Given the description of an element on the screen output the (x, y) to click on. 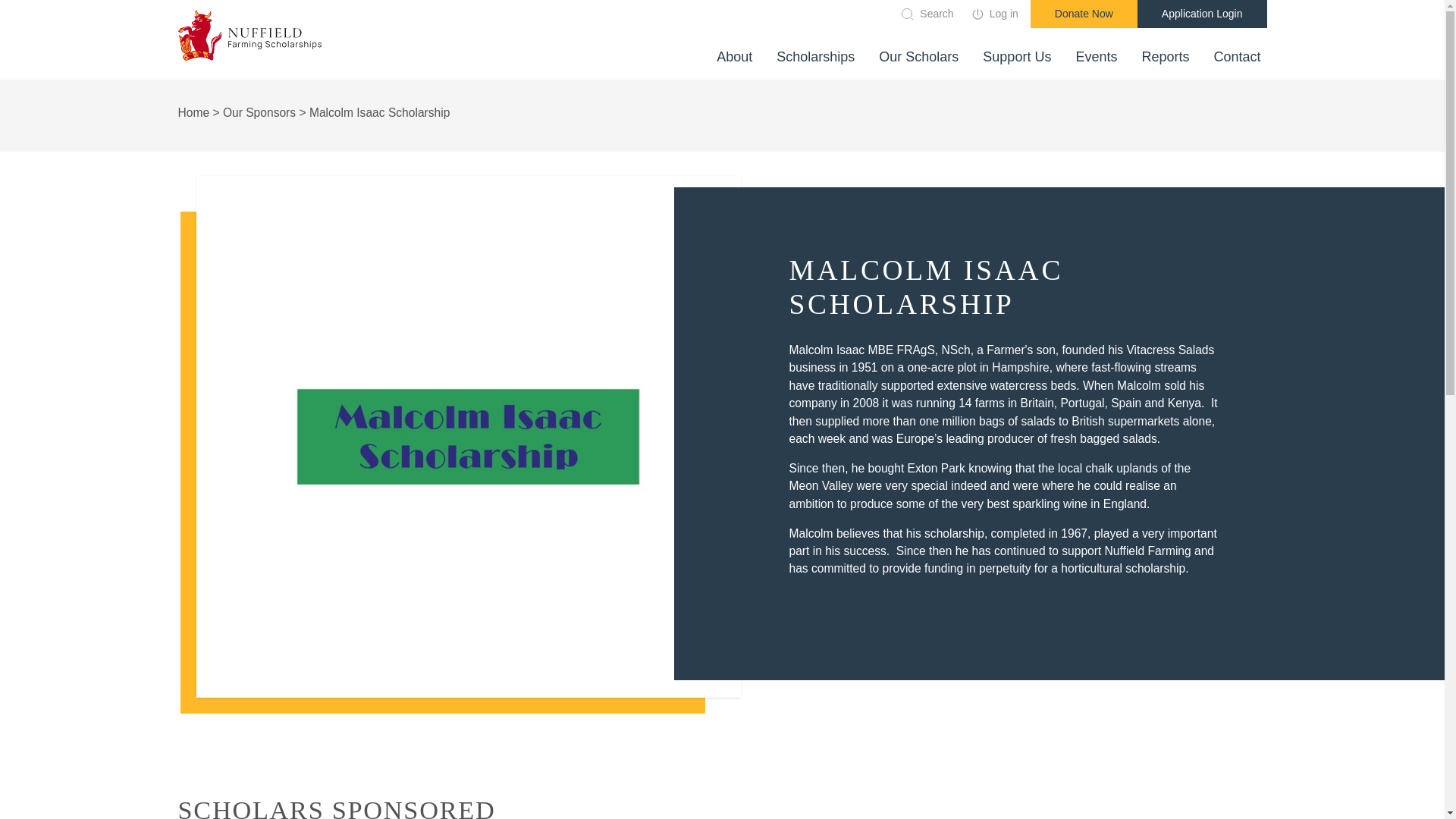
Log in (994, 13)
Application Login (1201, 13)
Donate Now (1083, 13)
Search (1021, 14)
